Given the description of an element on the screen output the (x, y) to click on. 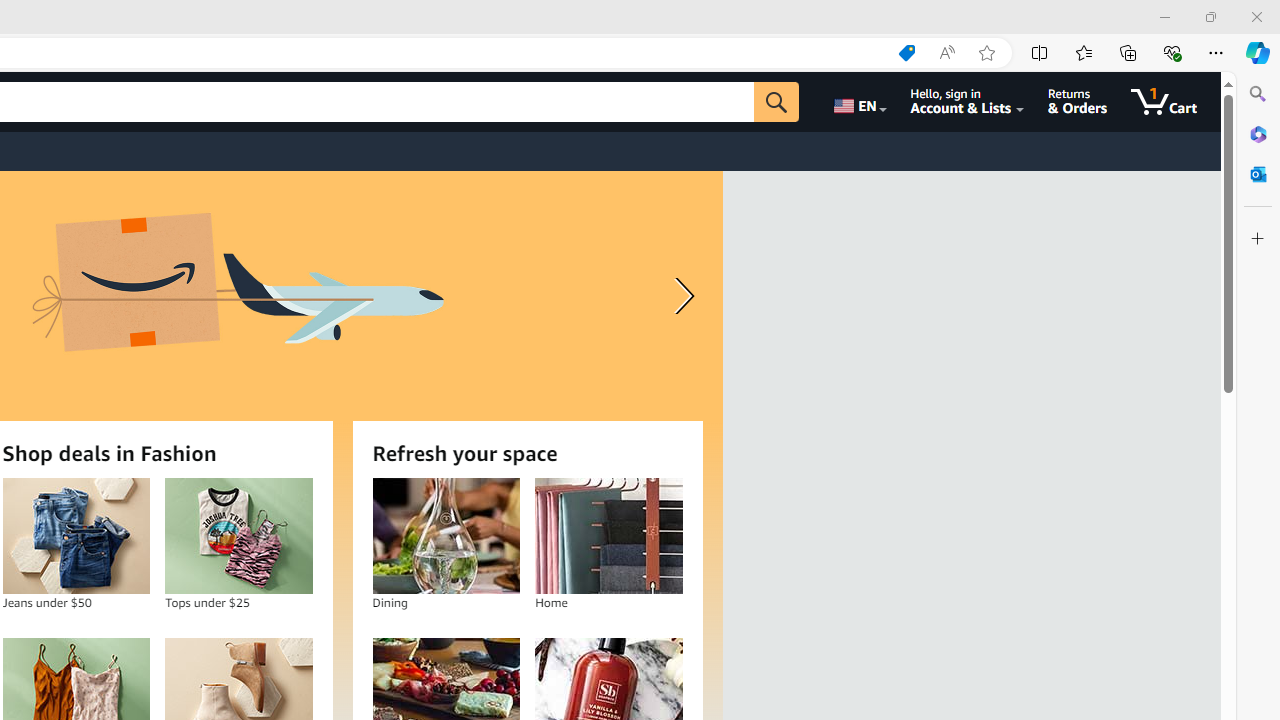
Browser essentials (1171, 52)
Outlook (1258, 174)
Hello, sign in Account & Lists (967, 101)
Next slide (680, 296)
More Actions... (1256, 52)
Copilot (Ctrl+Shift+.) (1258, 52)
Toggle Primary Side Bar (Ctrl+B) (1050, 16)
Find (812, 106)
1 item in cart (1163, 101)
Toggle Replace (725, 107)
Search (1258, 94)
Next Match (Enter) (1066, 106)
Previous Match (Shift+Enter) (1041, 106)
Toggle Secondary Side Bar (Ctrl+Alt+B) (1102, 16)
Run or Debug... (1208, 52)
